Given the description of an element on the screen output the (x, y) to click on. 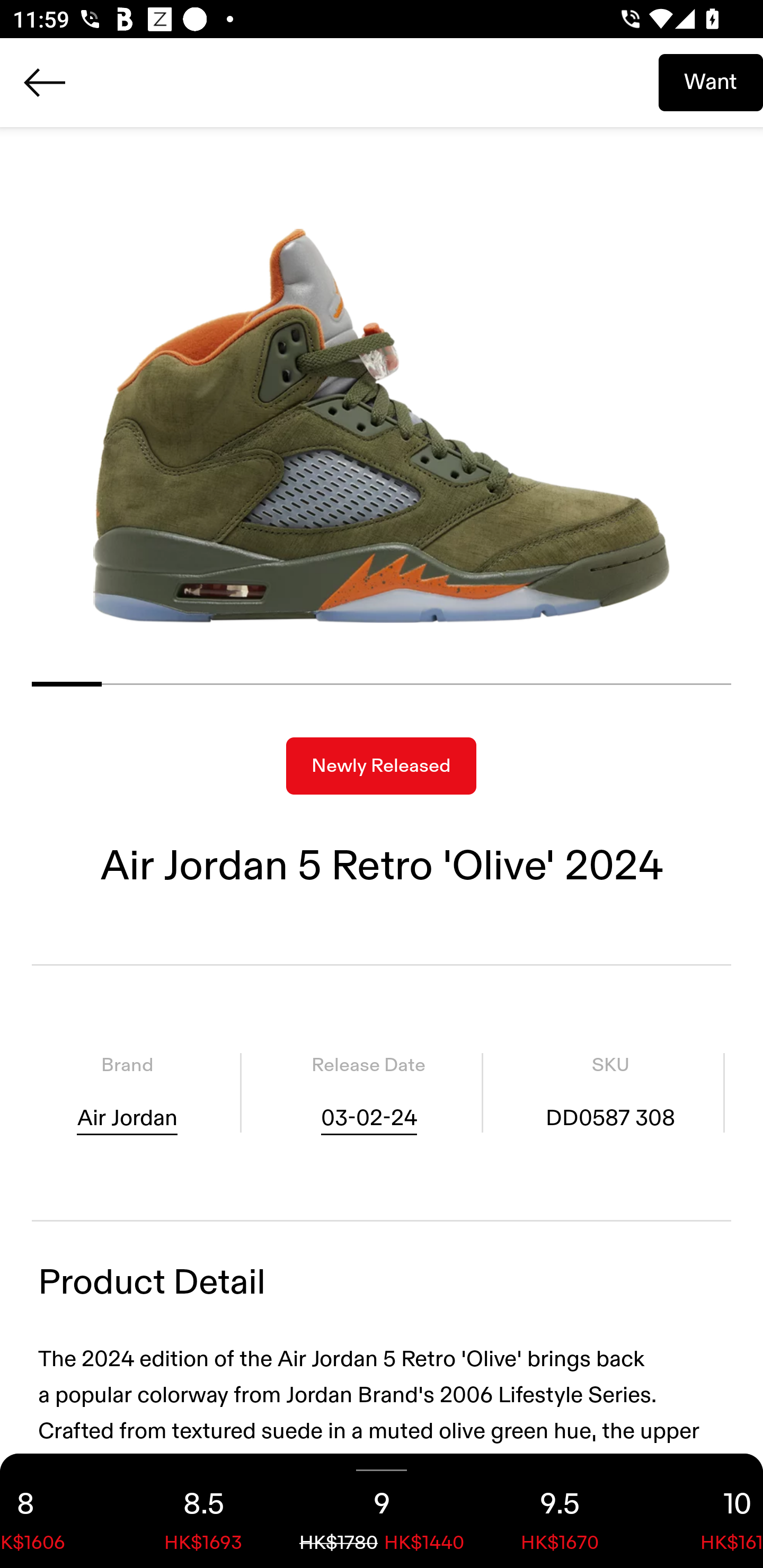
Want (710, 82)
Newly Released (381, 765)
Brand Air Jordan (126, 1092)
Release Date 03-02-24 (368, 1092)
SKU DD0587 308 (609, 1092)
8 HK$1606 (57, 1510)
8.5 HK$1693 (203, 1510)
9 HK$1780 HK$1440 (381, 1510)
9.5 HK$1670 (559, 1510)
10 HK$1614 (705, 1510)
